Given the description of an element on the screen output the (x, y) to click on. 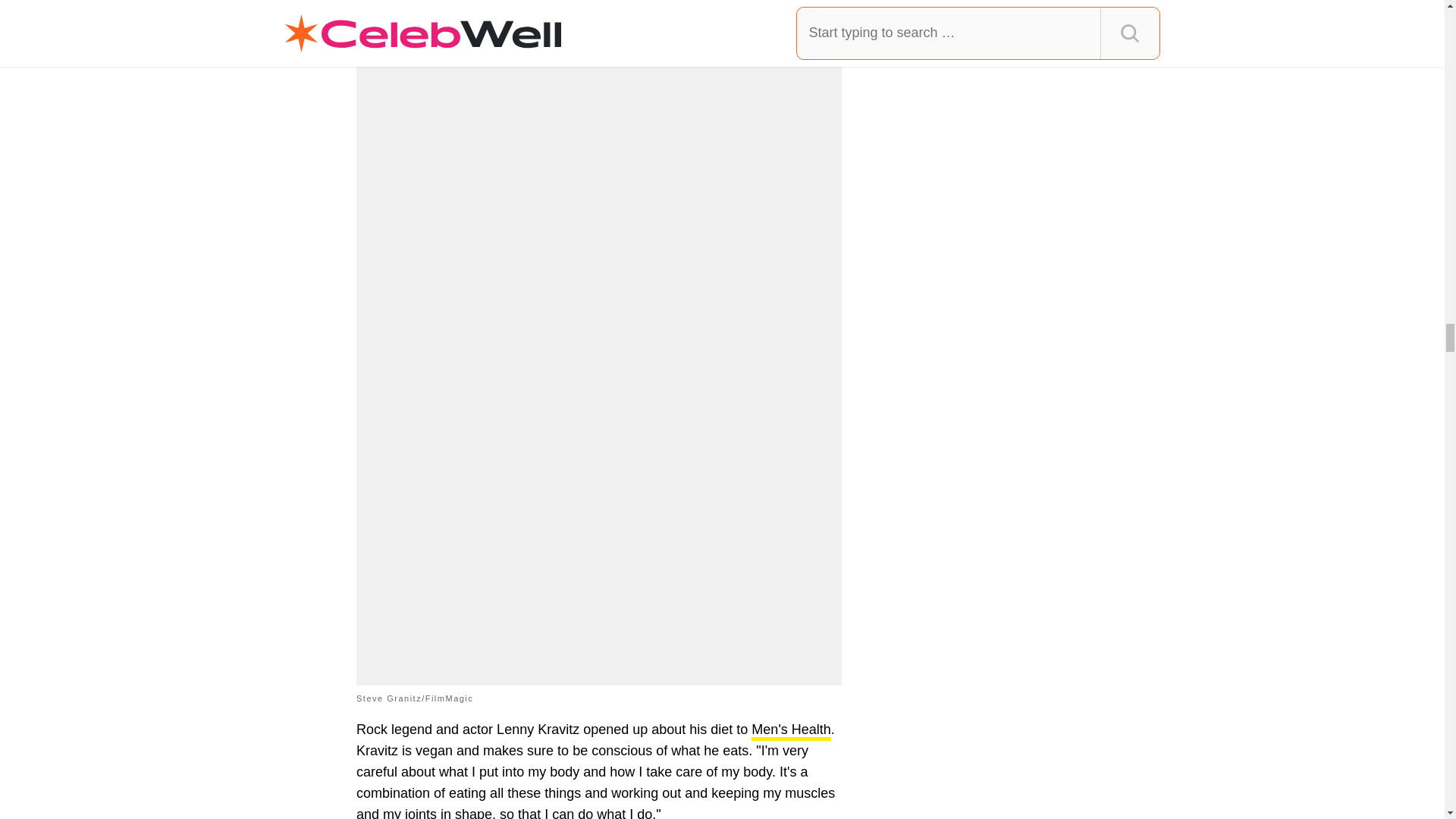
Men's Health (790, 731)
